Given the description of an element on the screen output the (x, y) to click on. 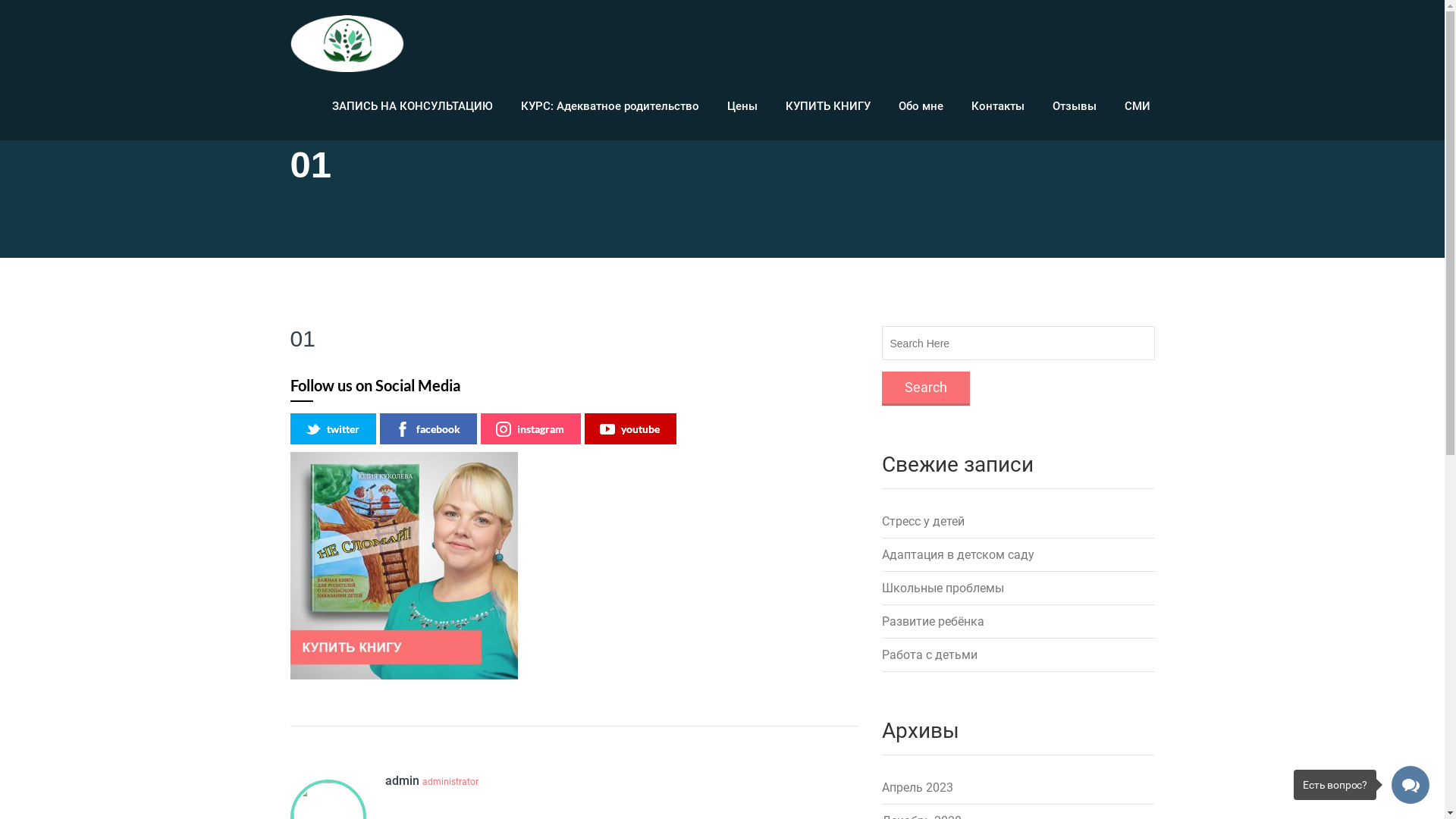
facebook Element type: text (427, 428)
01 Element type: text (301, 338)
Search Element type: text (925, 387)
twitter Element type: text (332, 428)
youtube Element type: text (629, 428)
instagram Element type: text (530, 428)
